Given the description of an element on the screen output the (x, y) to click on. 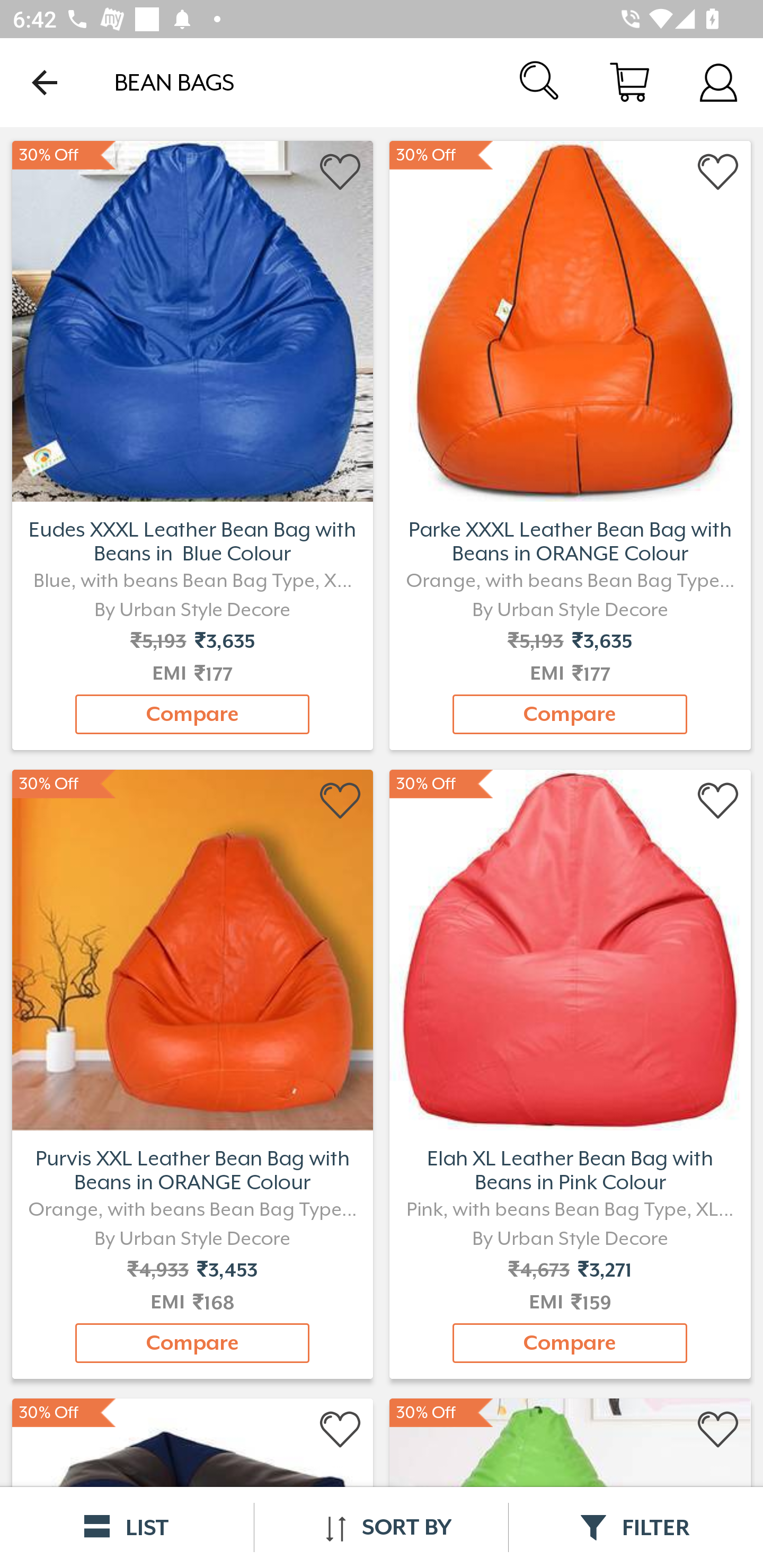
Navigate up (44, 82)
Search (540, 81)
Cart (629, 81)
Account Details (718, 81)
 (341, 172)
 (718, 172)
Compare (192, 713)
Compare (569, 713)
 (341, 800)
 (718, 800)
Compare (192, 1342)
Compare (569, 1342)
 (341, 1429)
 (718, 1429)
 LIST (127, 1527)
SORT BY (381, 1527)
 FILTER (635, 1527)
